Given the description of an element on the screen output the (x, y) to click on. 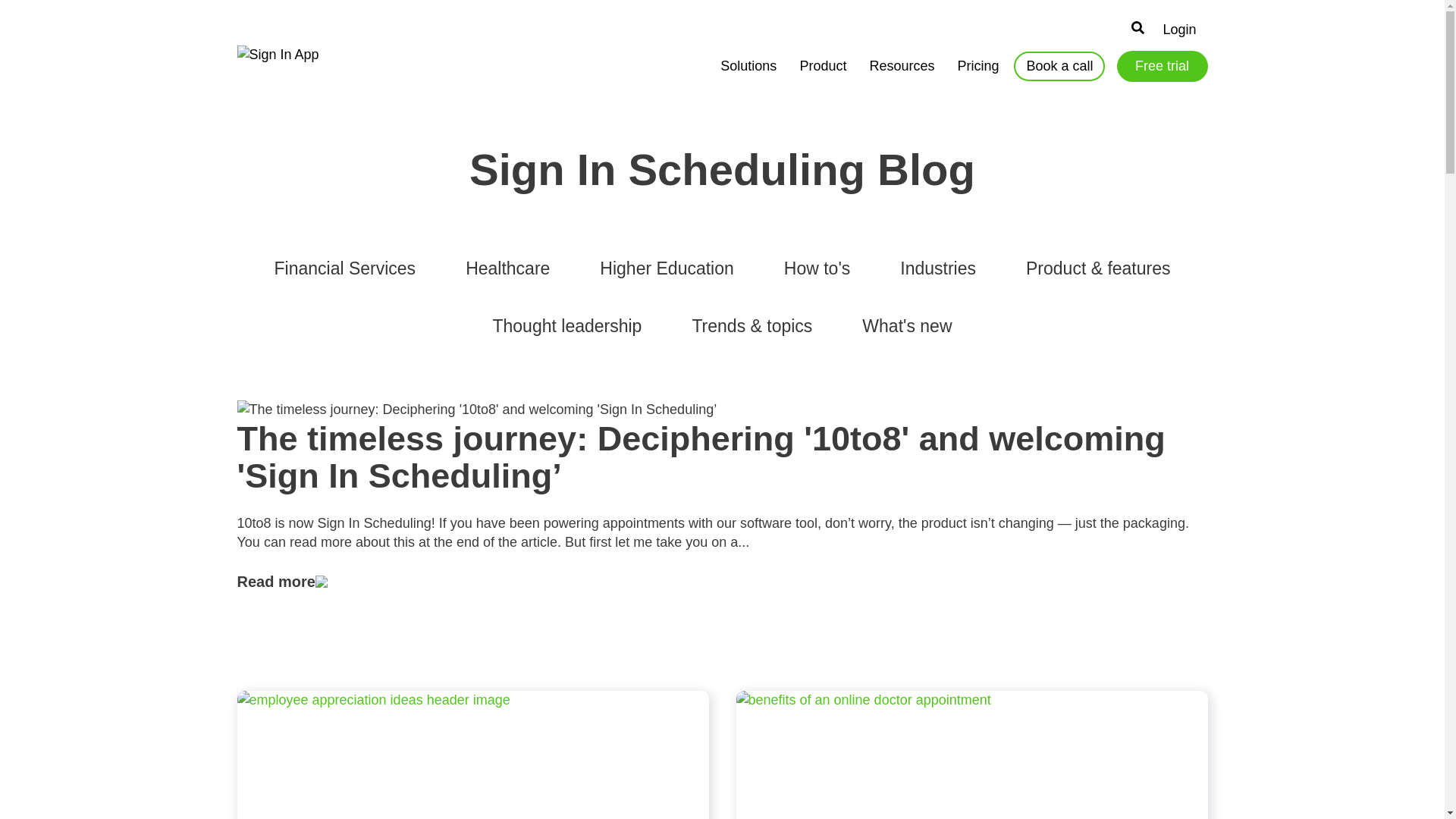
How to's Element type: text (816, 268)
What's new Element type: text (906, 325)
Financial Services Element type: text (344, 268)
Solutions Element type: text (748, 75)
Trends & topics Element type: text (751, 325)
Higher Education Element type: text (666, 268)
Thought leadership Element type: text (566, 325)
Resources Element type: text (901, 75)
Book a call Element type: text (1058, 66)
Read more Element type: text (721, 581)
Product Element type: text (822, 75)
Healthcare Element type: text (507, 268)
Login Element type: text (1184, 29)
Industries Element type: text (937, 268)
Free trial Element type: text (1161, 65)
Product & features Element type: text (1098, 268)
Pricing Element type: text (977, 75)
